Given the description of an element on the screen output the (x, y) to click on. 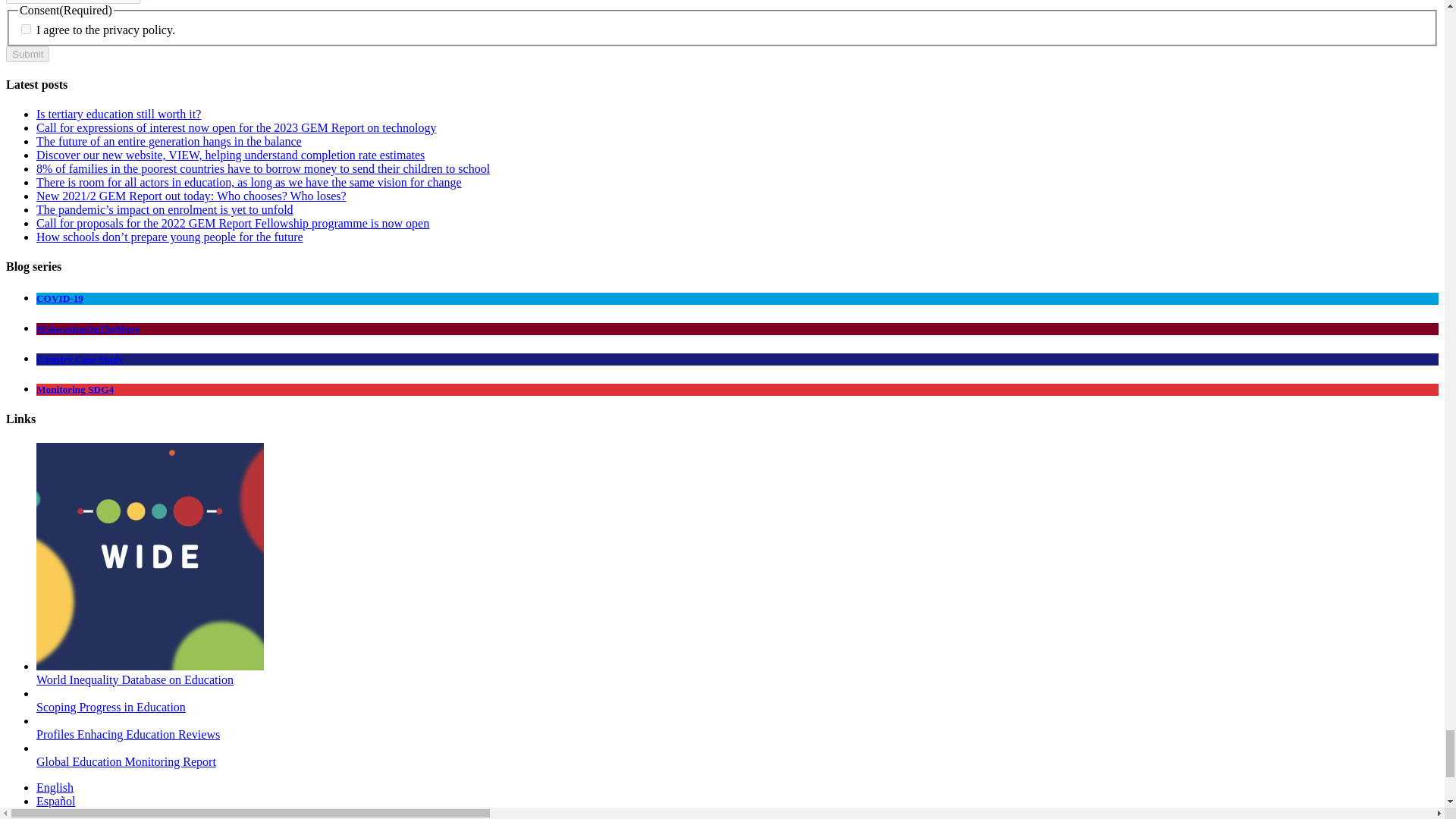
Submit (27, 53)
1 (25, 29)
